Given the description of an element on the screen output the (x, y) to click on. 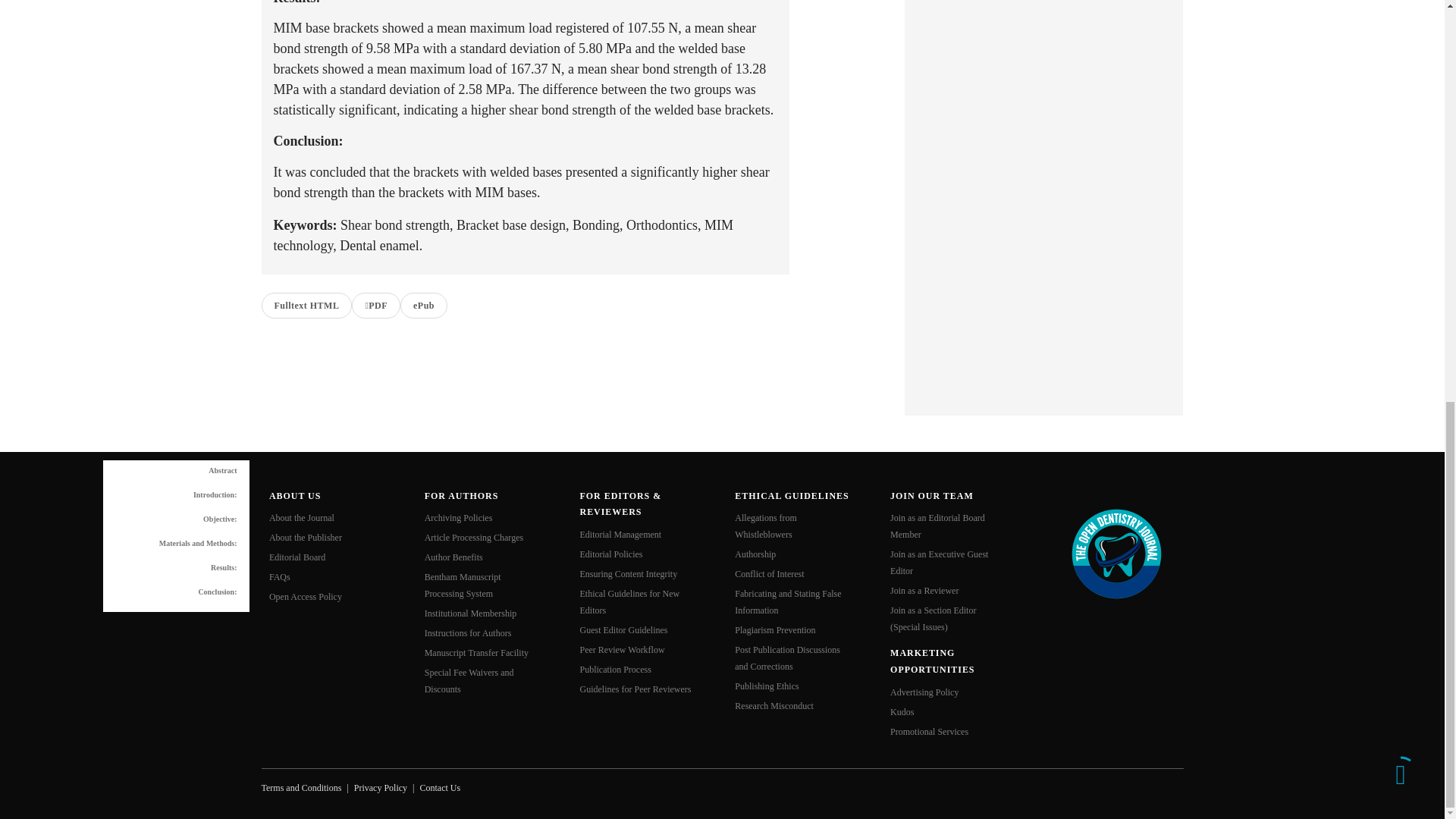
The Open Dentistry Journal (1115, 552)
Privacy Policy (380, 787)
Terms and Conditions (300, 787)
Back to top1 (1400, 2)
